Given the description of an element on the screen output the (x, y) to click on. 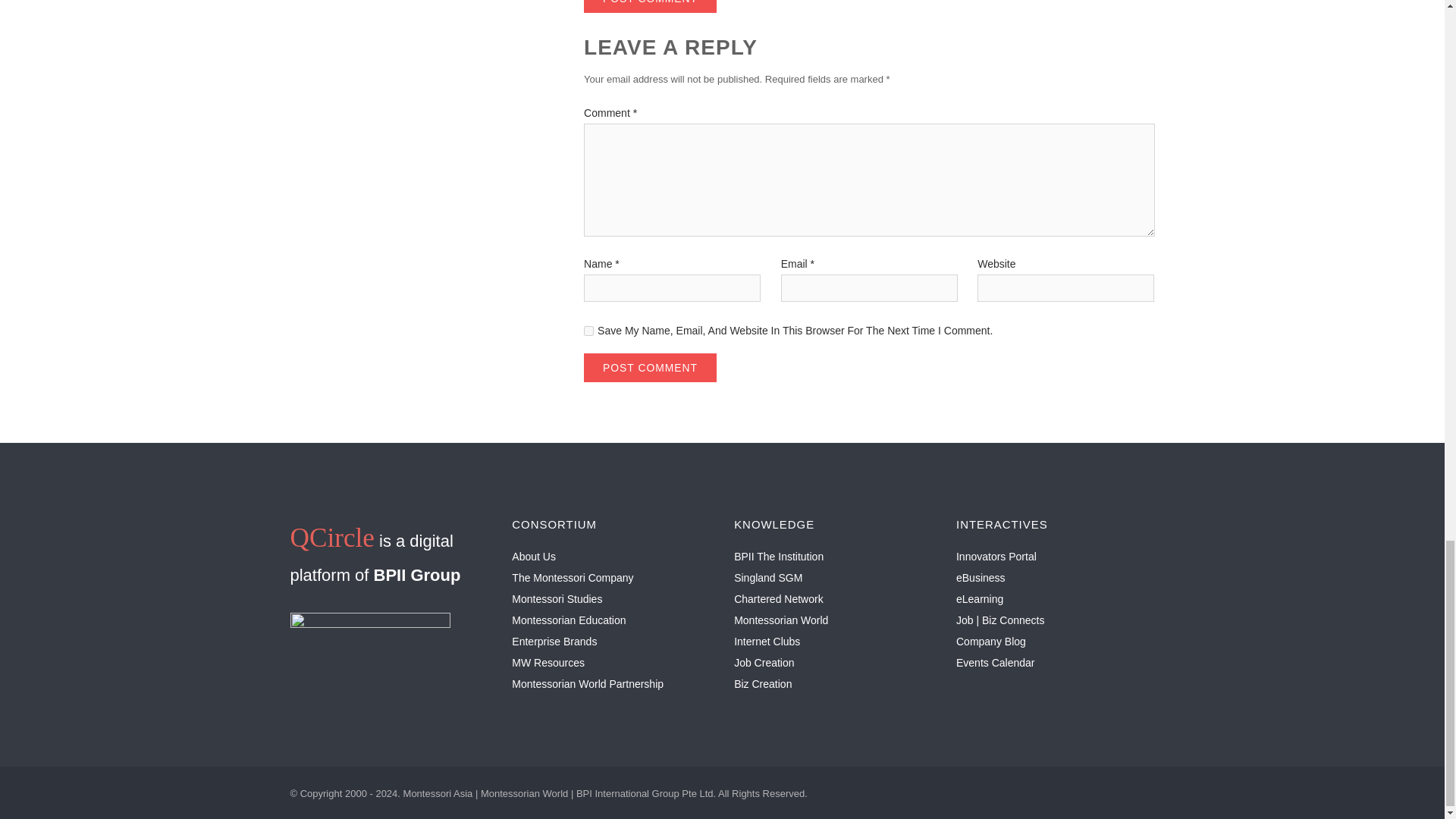
Post Comment (649, 6)
Post Comment (649, 367)
yes (588, 330)
